Given the description of an element on the screen output the (x, y) to click on. 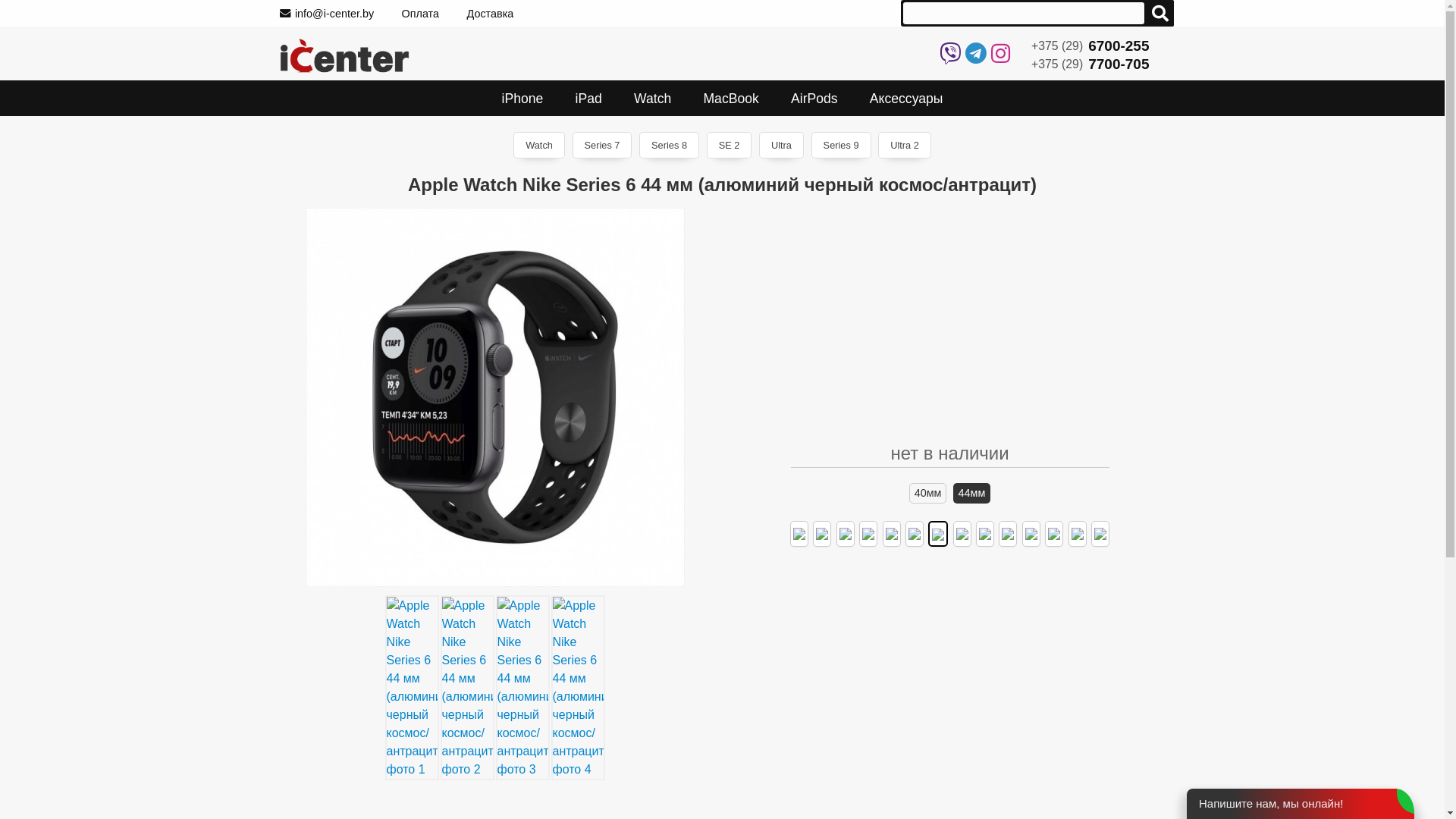
Series 8 Element type: text (669, 144)
info@i-center.by Element type: text (326, 13)
Series 9 Element type: text (841, 144)
SE 2 Element type: text (729, 144)
iPad Element type: text (587, 98)
+375 (29)
7700-705 Element type: text (1104, 64)
MacBook Element type: text (731, 98)
AirPods Element type: text (814, 98)
+375 (29)
6700-255 Element type: text (1104, 46)
Watch Element type: text (538, 144)
Watch Element type: text (652, 98)
Ultra Element type: text (781, 144)
Series 7 Element type: text (602, 144)
Ultra 2 Element type: text (904, 144)
iPhone Element type: text (521, 98)
